Given the description of an element on the screen output the (x, y) to click on. 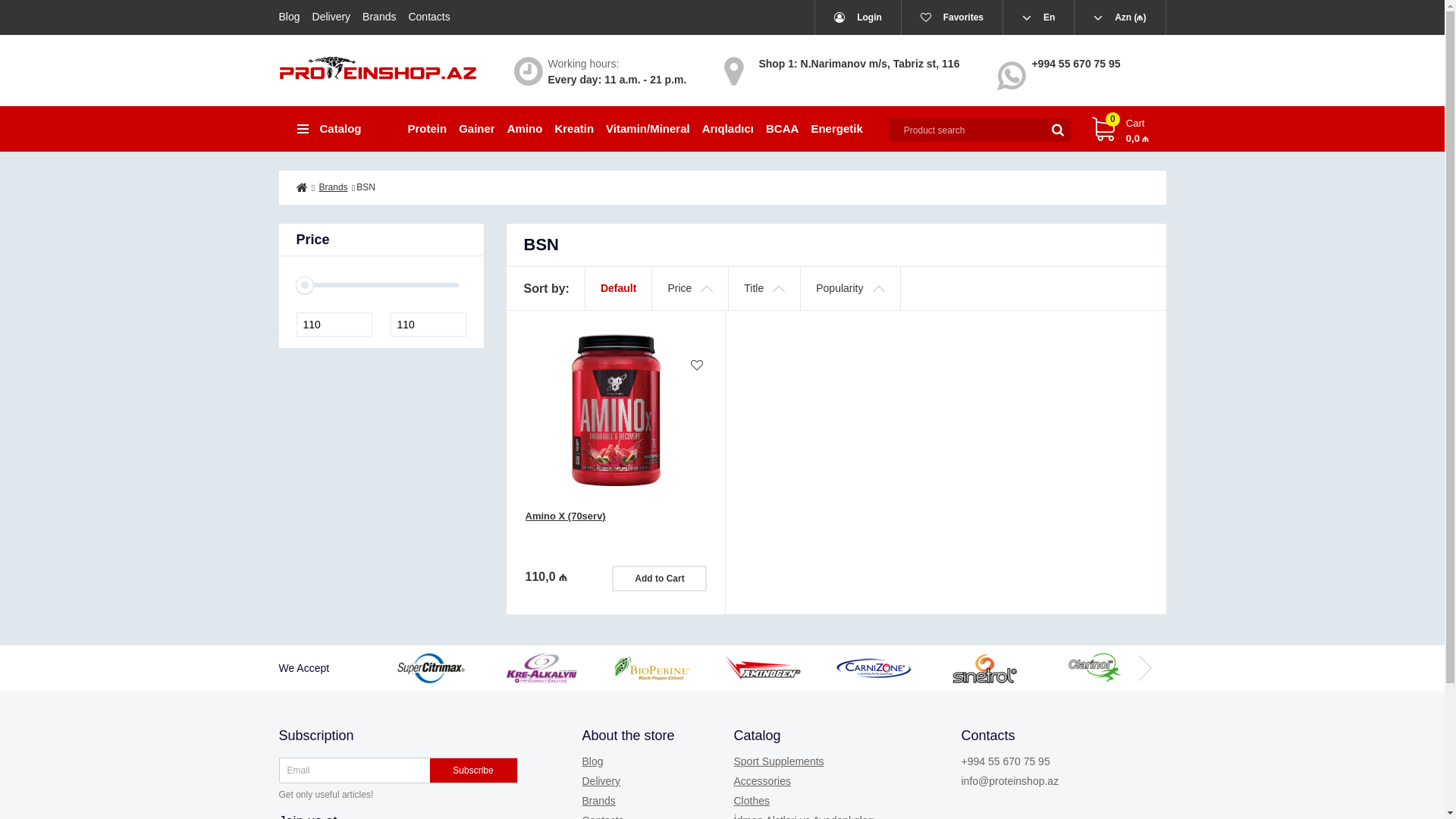
Delivery Element type: text (601, 781)
Gainer Element type: text (476, 128)
Login Element type: text (857, 17)
Brands Element type: text (333, 187)
Previous Element type: text (415, 667)
Next Element type: text (1143, 667)
Popularity Element type: text (850, 288)
Brands Element type: text (378, 17)
Favorite Element type: hover (696, 365)
Contacts Element type: text (428, 17)
Amino X (70serv) Element type: hover (615, 410)
Title Element type: text (764, 288)
+994 55 670 75 95 Element type: text (1005, 761)
+994 55 670 75 95 Element type: text (1075, 63)
Subscribe Element type: text (472, 770)
Kreatin Element type: text (573, 128)
Price Element type: text (690, 288)
Delivery Element type: text (331, 17)
BCAA Element type: text (781, 128)
Sport Supplements Element type: text (779, 761)
Default Element type: text (618, 288)
Amino Element type: text (525, 128)
Vitamin/Mineral Element type: text (647, 128)
Amino X (70serv) Element type: text (615, 531)
Blog Element type: text (292, 17)
Protein Element type: text (430, 128)
Accessories Element type: text (762, 781)
Clothes Element type: text (751, 800)
Add to Cart Element type: text (658, 578)
Brands Element type: text (598, 800)
Blog Element type: text (592, 761)
Energetik Element type: text (836, 128)
